Given the description of an element on the screen output the (x, y) to click on. 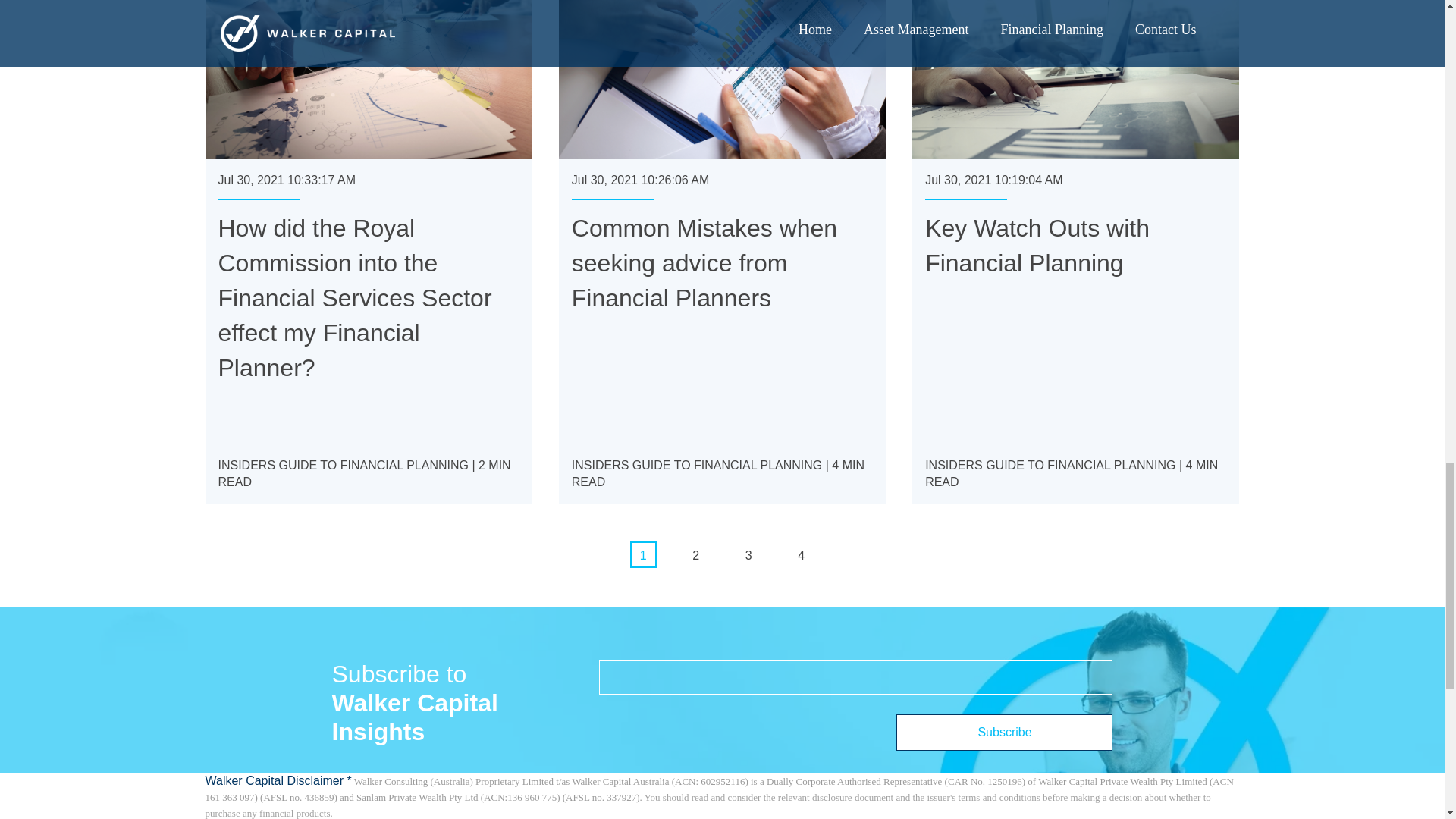
Subscribe (1004, 732)
